Given the description of an element on the screen output the (x, y) to click on. 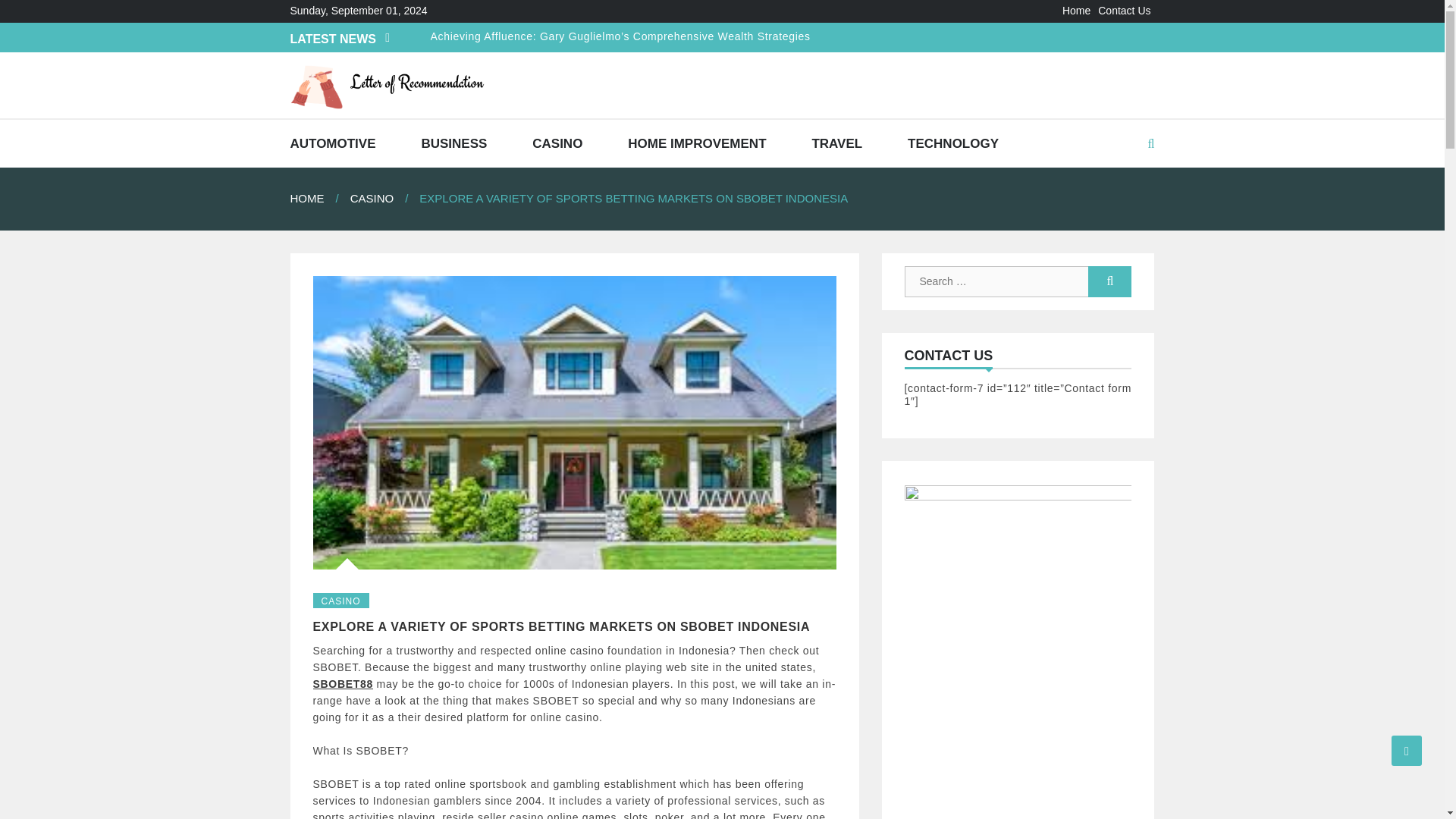
HOME (319, 197)
Home (1076, 10)
SBOBET88 (342, 684)
CASINO (557, 143)
How to Use Instagram Stories to Engage and Attract Followers (593, 127)
Contact Us (1123, 10)
BUSINESS (453, 143)
TRAVEL (835, 143)
HOME IMPROVEMENT (696, 143)
TECHNOLOGY (952, 143)
